Given the description of an element on the screen output the (x, y) to click on. 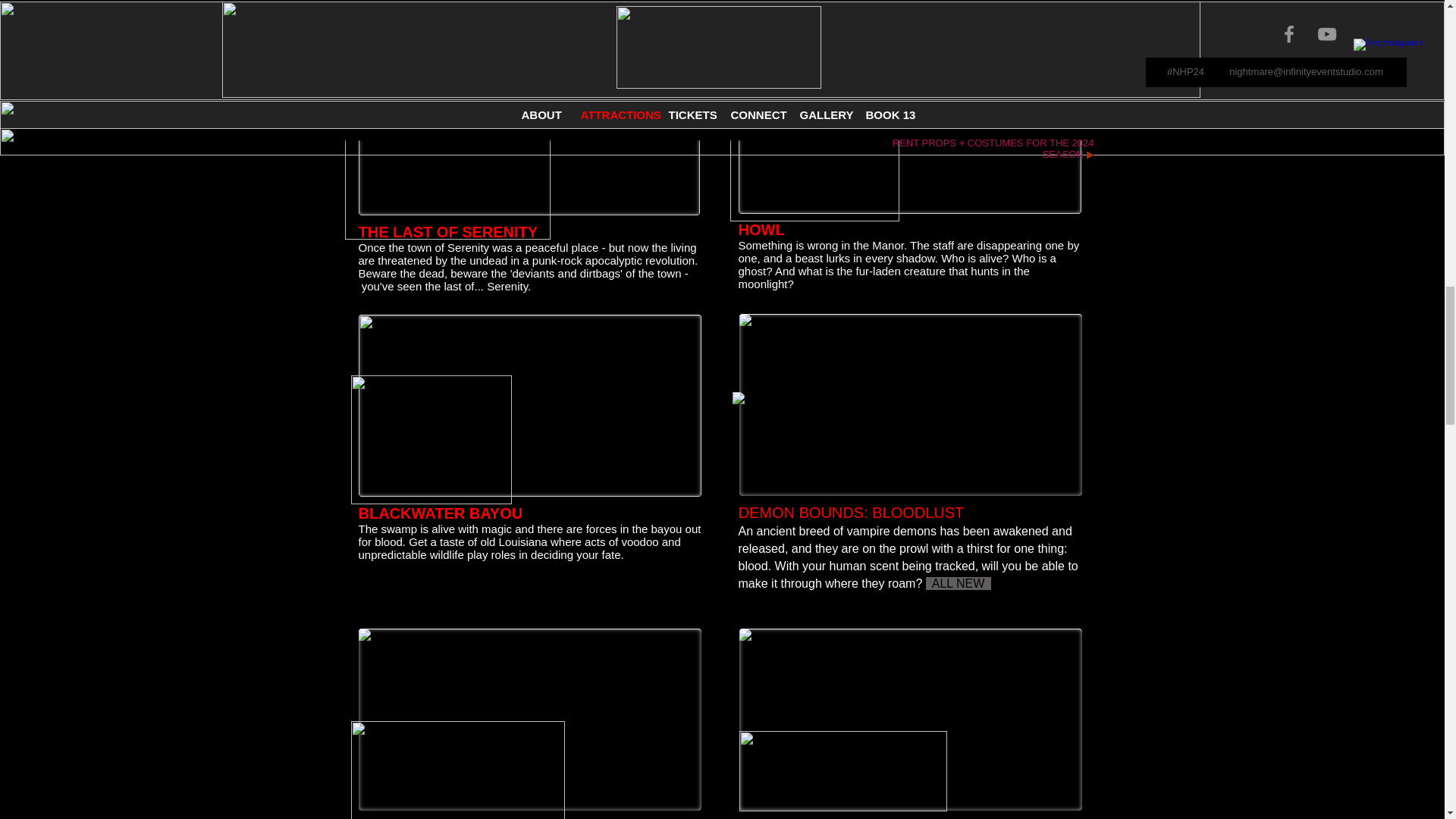
serenity0.png (446, 156)
